Given the description of an element on the screen output the (x, y) to click on. 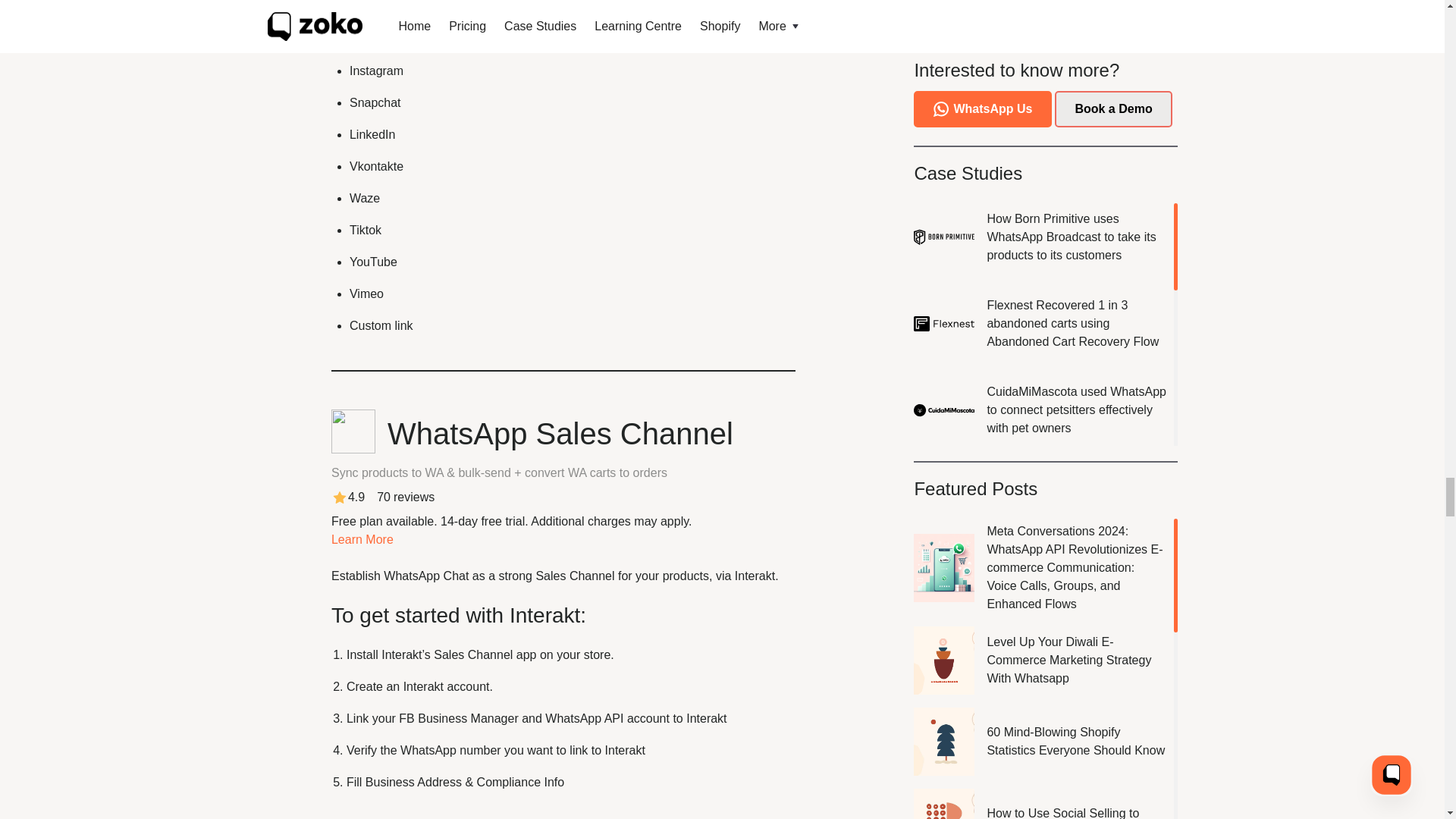
Learn More (362, 539)
